Given the description of an element on the screen output the (x, y) to click on. 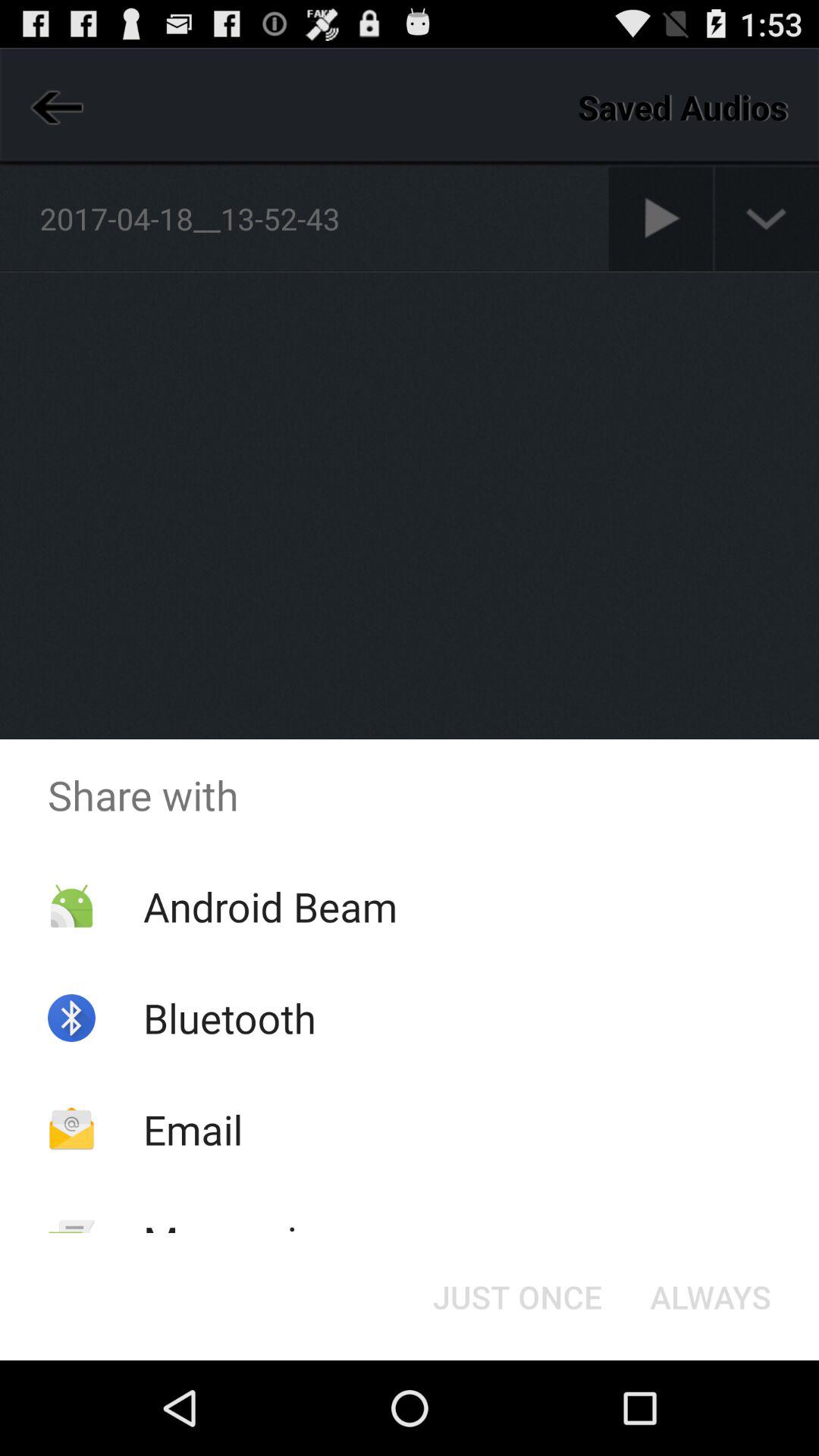
press the bluetooth icon (229, 1017)
